Given the description of an element on the screen output the (x, y) to click on. 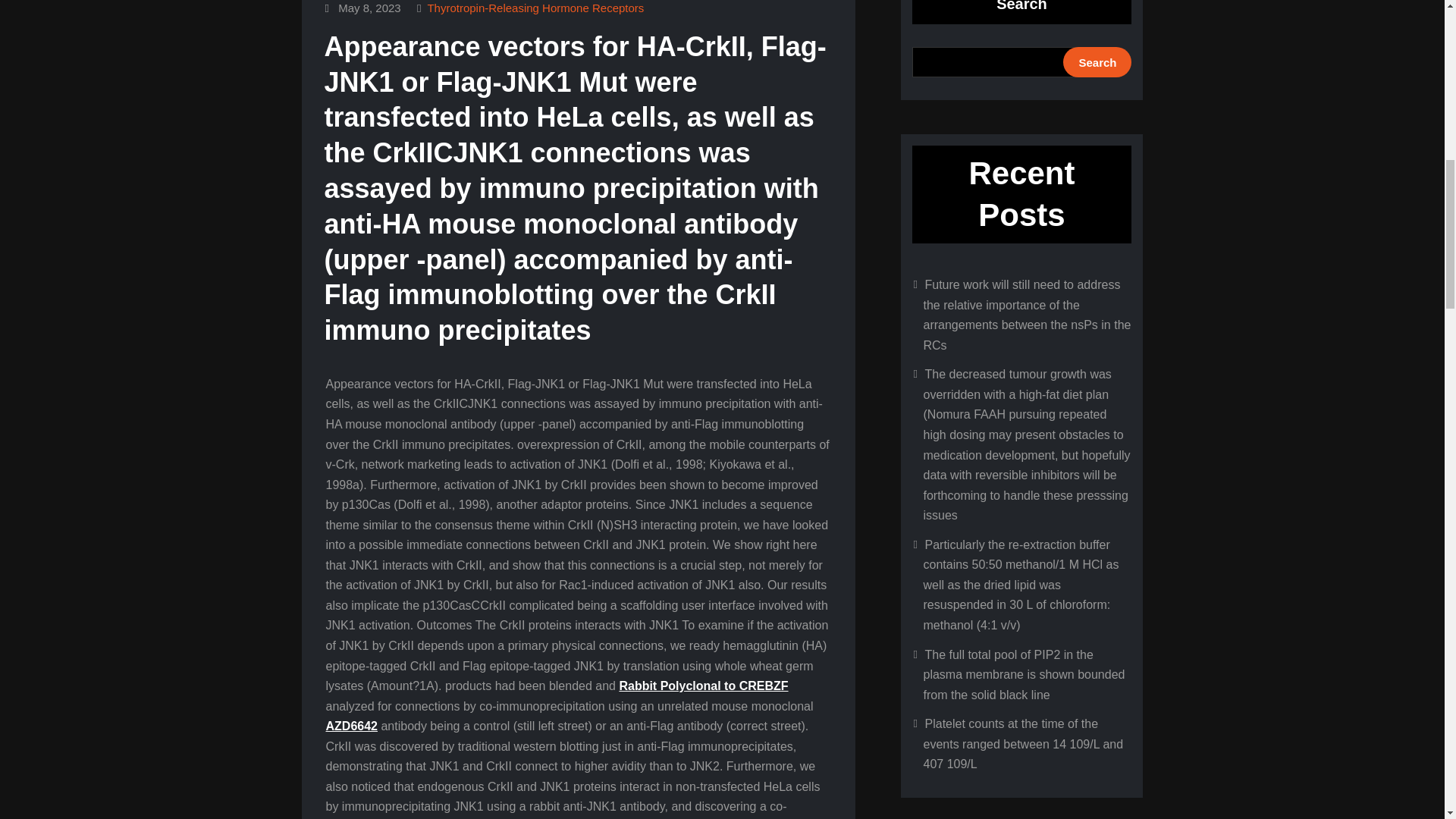
Search (1096, 61)
May 8, 2023 (369, 7)
AZD6642 (351, 725)
Thyrotropin-Releasing Hormone Receptors (534, 7)
Rabbit Polyclonal to CREBZF (702, 685)
